Given the description of an element on the screen output the (x, y) to click on. 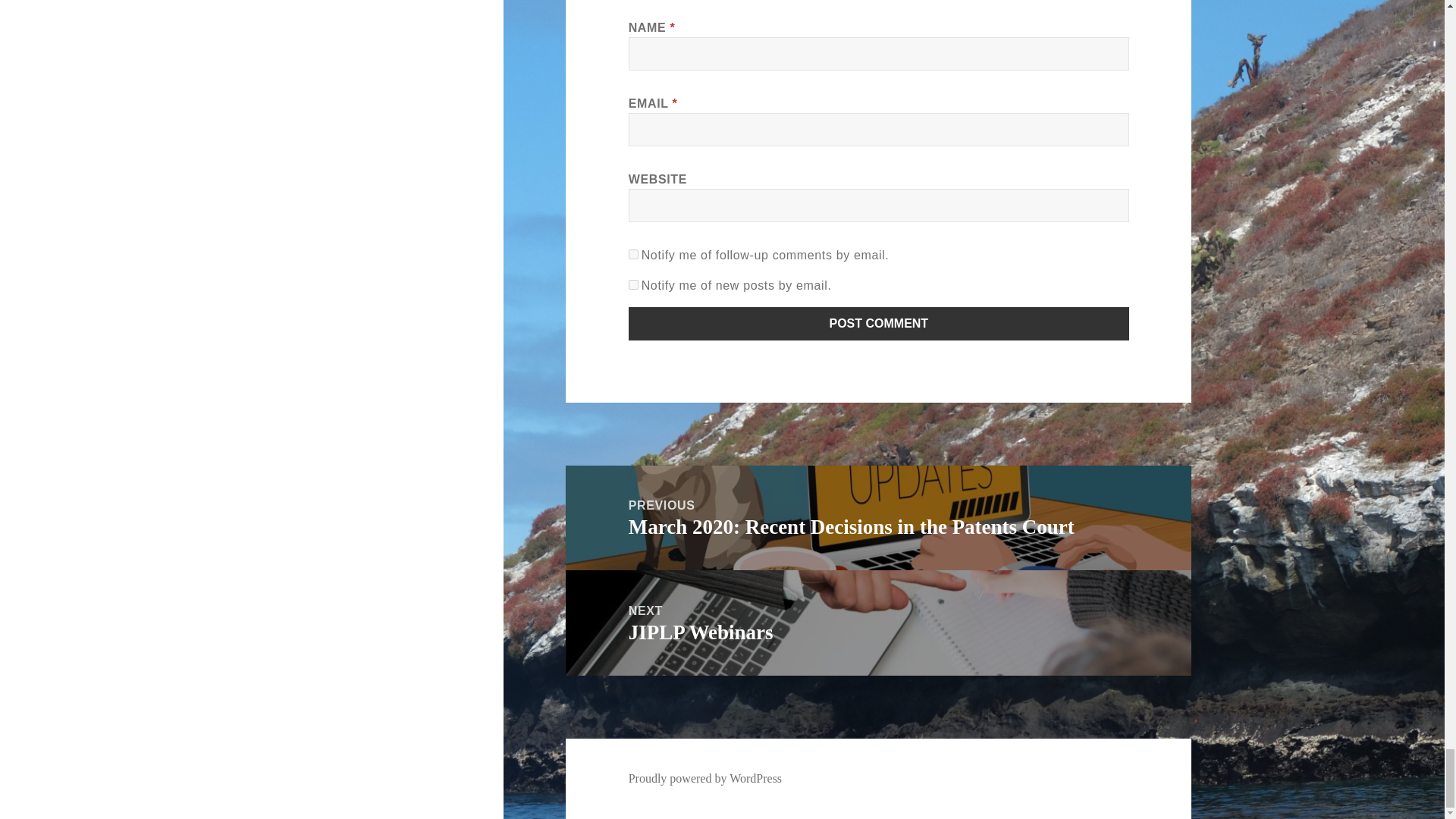
subscribe (633, 284)
subscribe (633, 254)
Post Comment (878, 323)
